Given the description of an element on the screen output the (x, y) to click on. 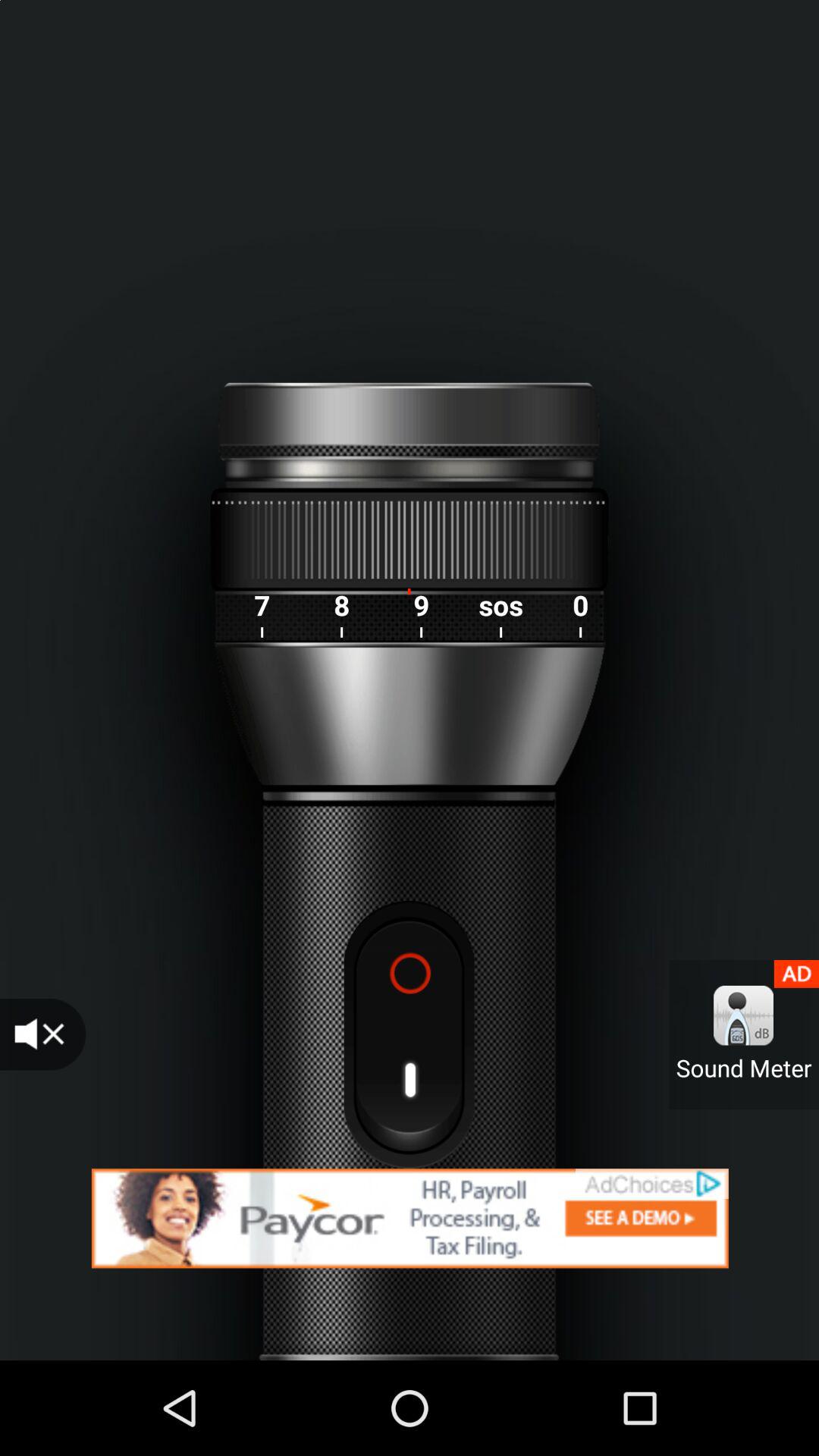
redirect to advertisement (409, 1218)
